Given the description of an element on the screen output the (x, y) to click on. 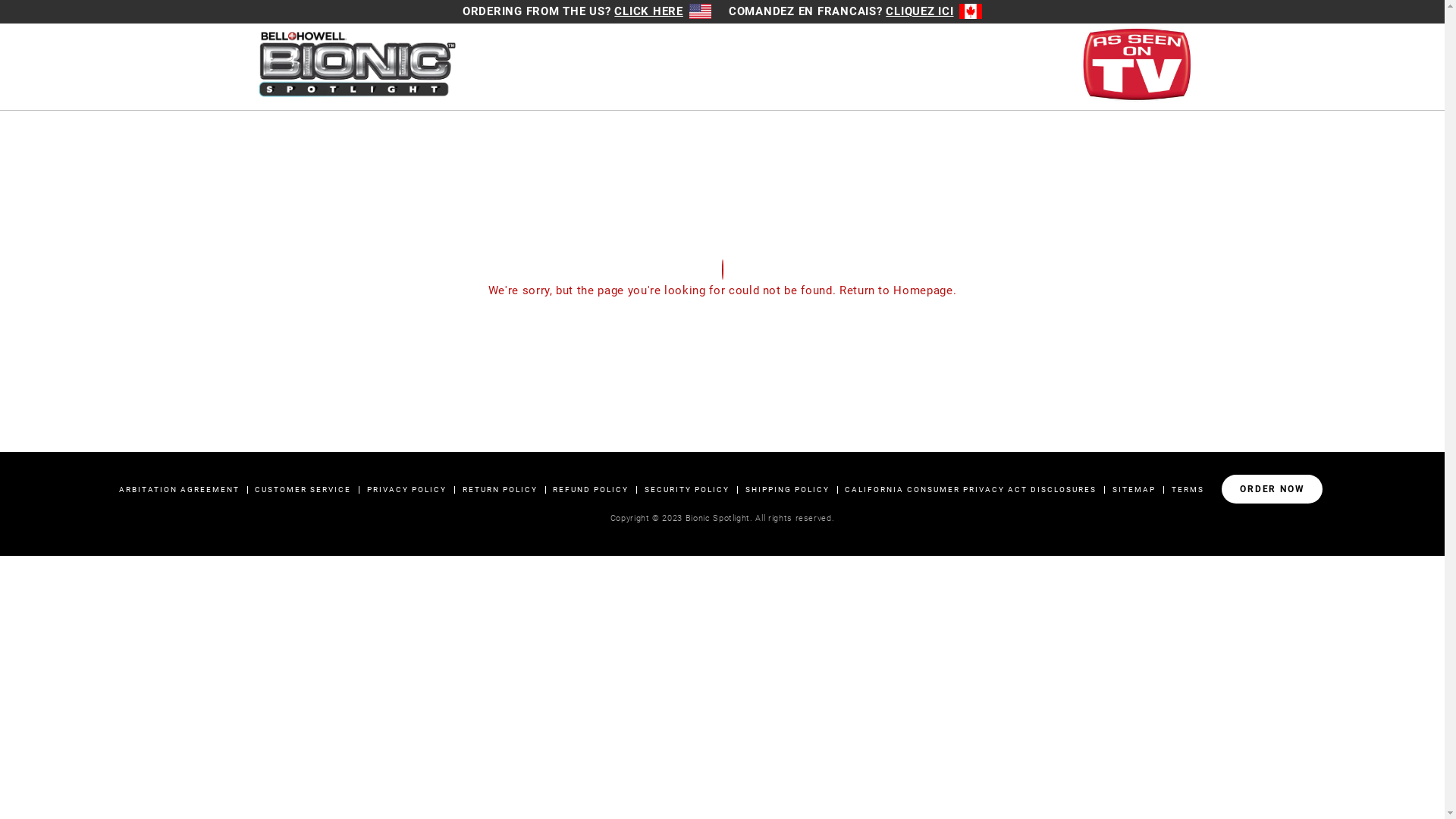
ARBITATION AGREEMENT Element type: text (179, 489)
Return to Homepage Element type: text (896, 290)
COMANDEZ EN FRANCAIS? CLIQUEZ ICI Element type: text (855, 11)
SHIPPING POLICY Element type: text (787, 489)
ORDER NOW Element type: text (1271, 488)
ORDERING FROM THE US? CLICK HERE Element type: text (586, 11)
TERMS Element type: text (1187, 489)
RETURN POLICY Element type: text (499, 489)
PRIVACY POLICY Element type: text (406, 489)
REFUND POLICY Element type: text (590, 489)
CUSTOMER SERVICE Element type: text (302, 489)
SITEMAP Element type: text (1133, 489)
CALIFORNIA CONSUMER PRIVACY ACT DISCLOSURES Element type: text (970, 489)
SECURITY POLICY Element type: text (686, 489)
